Given the description of an element on the screen output the (x, y) to click on. 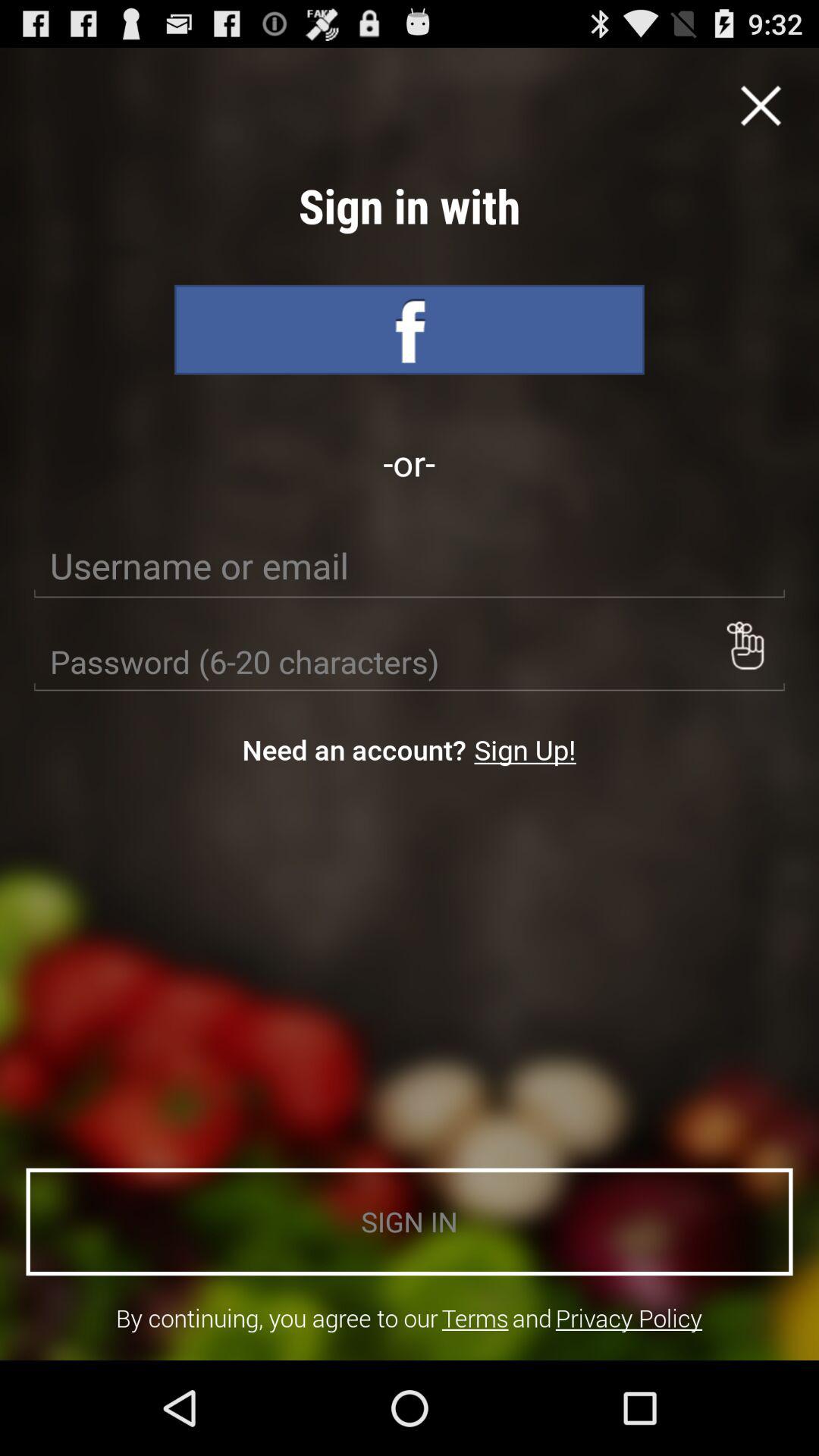
turn on the sign up! item (525, 749)
